Given the description of an element on the screen output the (x, y) to click on. 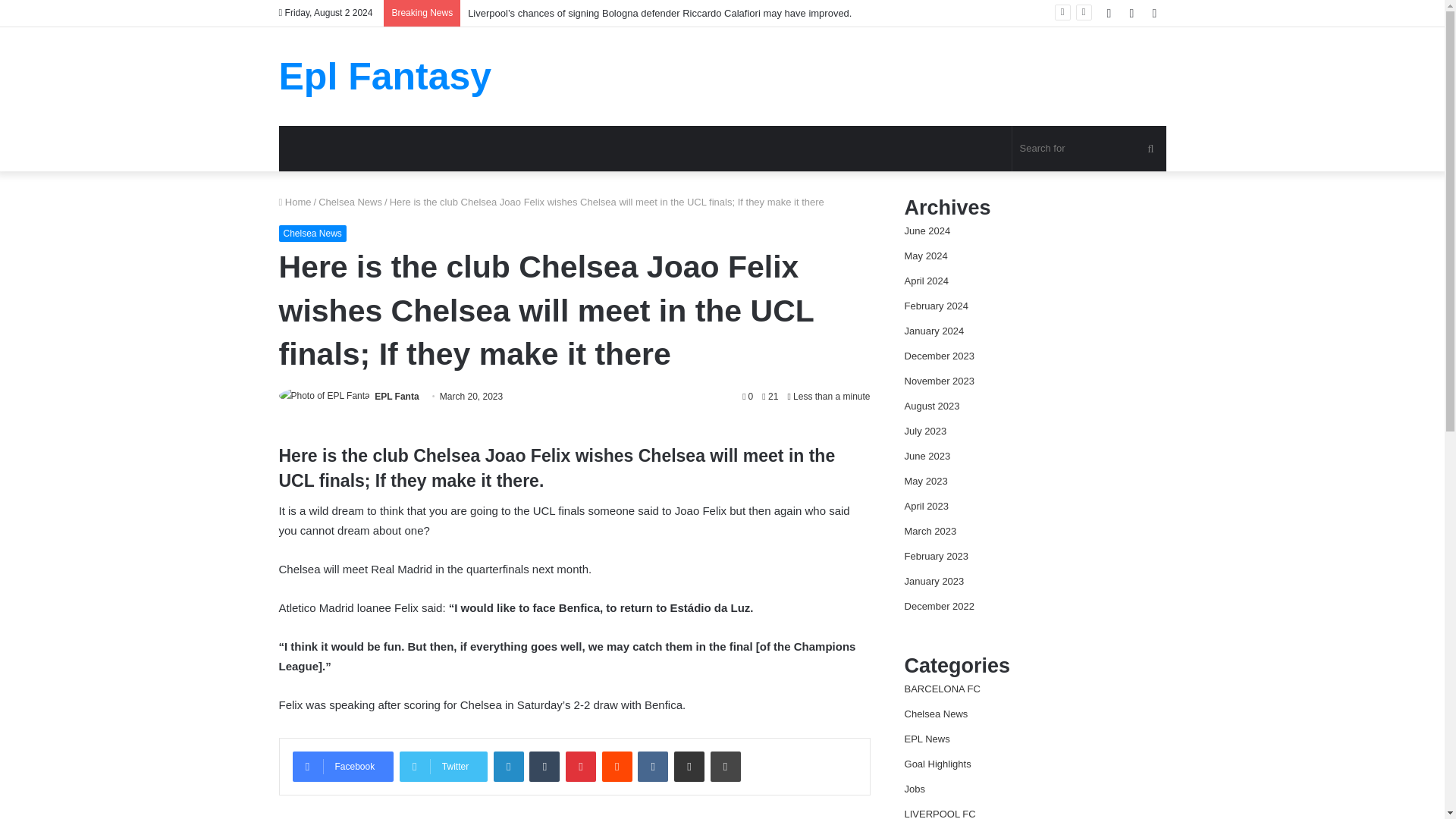
Tumblr (544, 766)
VKontakte (652, 766)
Epl Fantasy (385, 76)
LinkedIn (508, 766)
Reddit (616, 766)
Twitter (442, 766)
Twitter (442, 766)
Pinterest (580, 766)
Tumblr (544, 766)
Pinterest (580, 766)
Share via Email (689, 766)
Epl Fantasy (385, 76)
Facebook (343, 766)
Facebook (343, 766)
Chelsea News (312, 233)
